Given the description of an element on the screen output the (x, y) to click on. 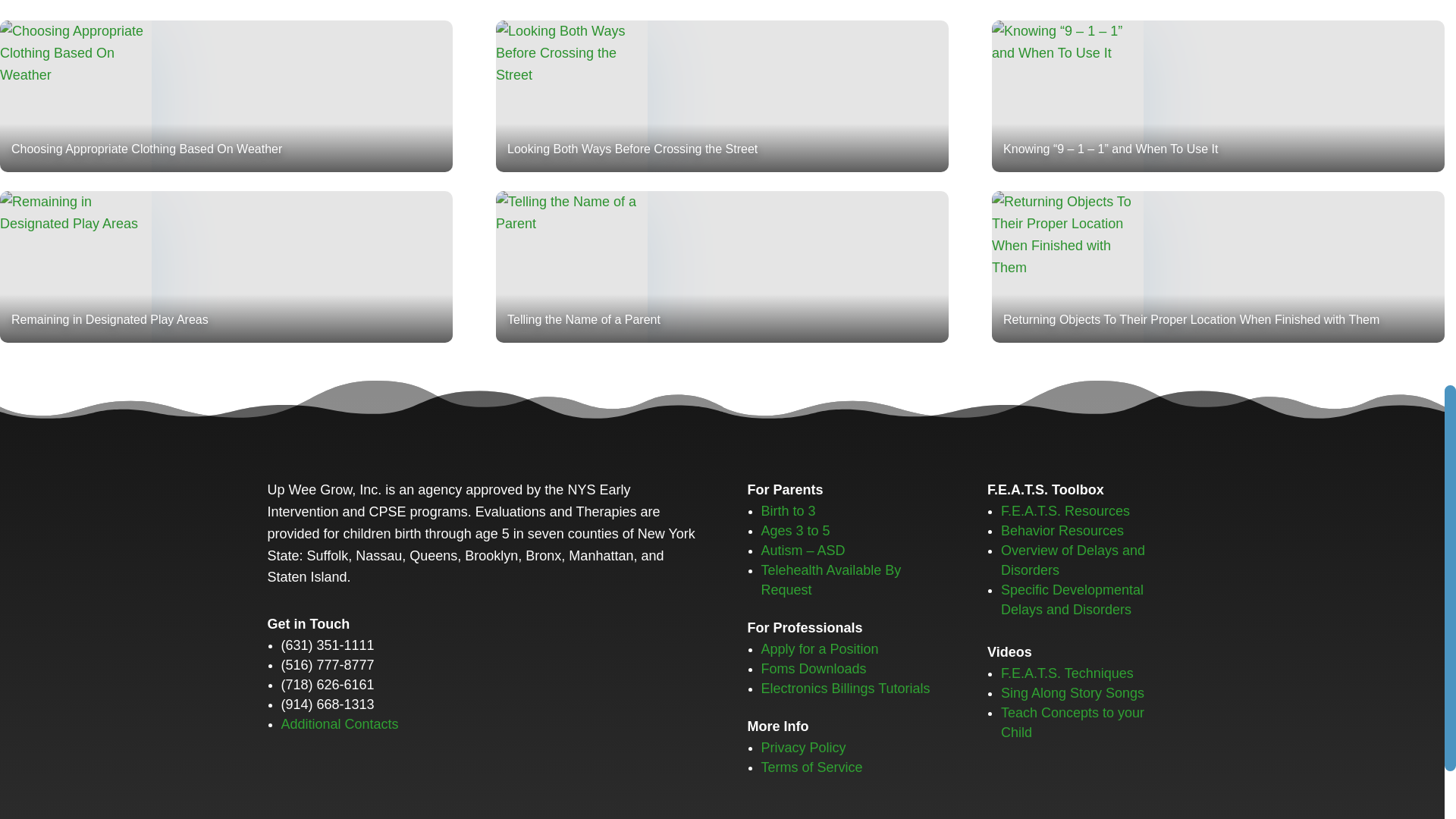
Choosing Appropriate Clothing Based On Weather (226, 95)
Telling the Name of a Parent (722, 266)
Looking Both Ways Before Crossing the Street (722, 95)
Remaining in Designated Play Areas (226, 266)
